Given the description of an element on the screen output the (x, y) to click on. 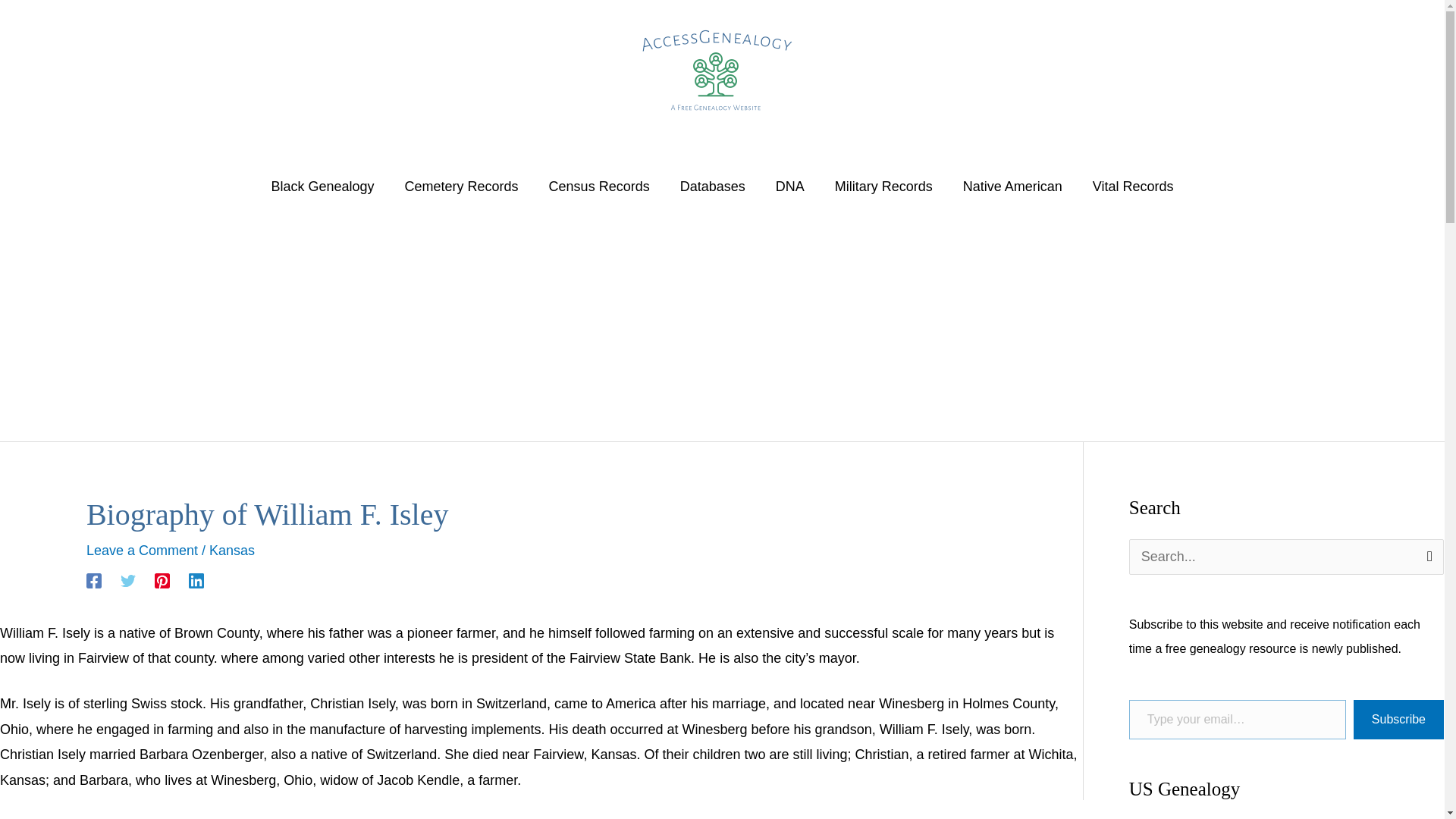
Census Records (599, 185)
Leave a Comment (141, 549)
DNA (789, 185)
United States Military Records (883, 185)
Vital Records (1133, 185)
Black Genealogy (322, 185)
DNA (789, 185)
Genealogy Databases (712, 185)
United States Vital Records (1133, 185)
Subscribe (1399, 720)
Kansas (231, 549)
Databases (712, 185)
United States Cemetery Records (462, 185)
Cemetery Records (462, 185)
